Given the description of an element on the screen output the (x, y) to click on. 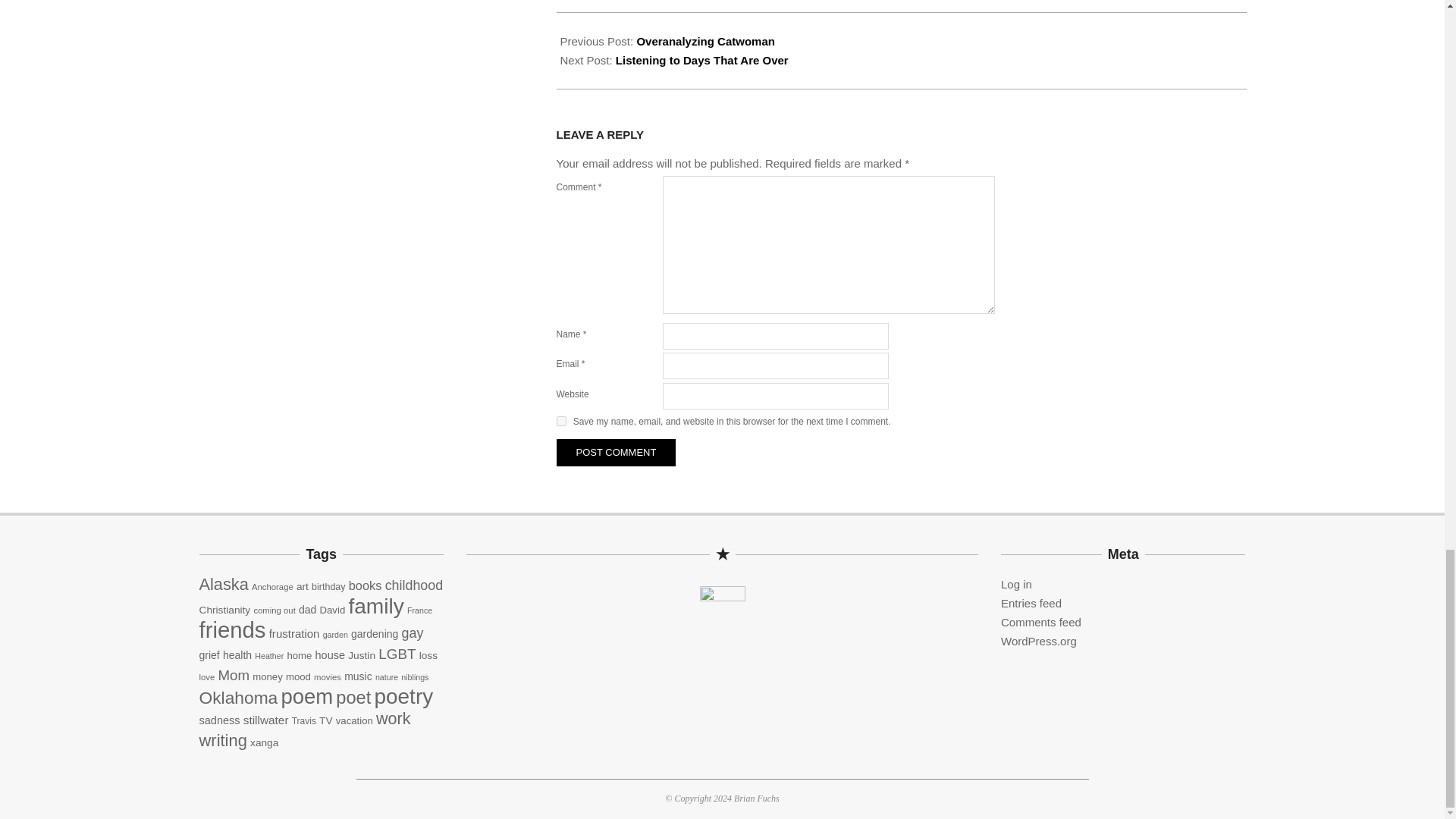
Listening to Days That Are Over (702, 60)
Post Comment (616, 452)
Post Comment (616, 452)
yes (561, 420)
Overanalyzing Catwoman (705, 41)
